Given the description of an element on the screen output the (x, y) to click on. 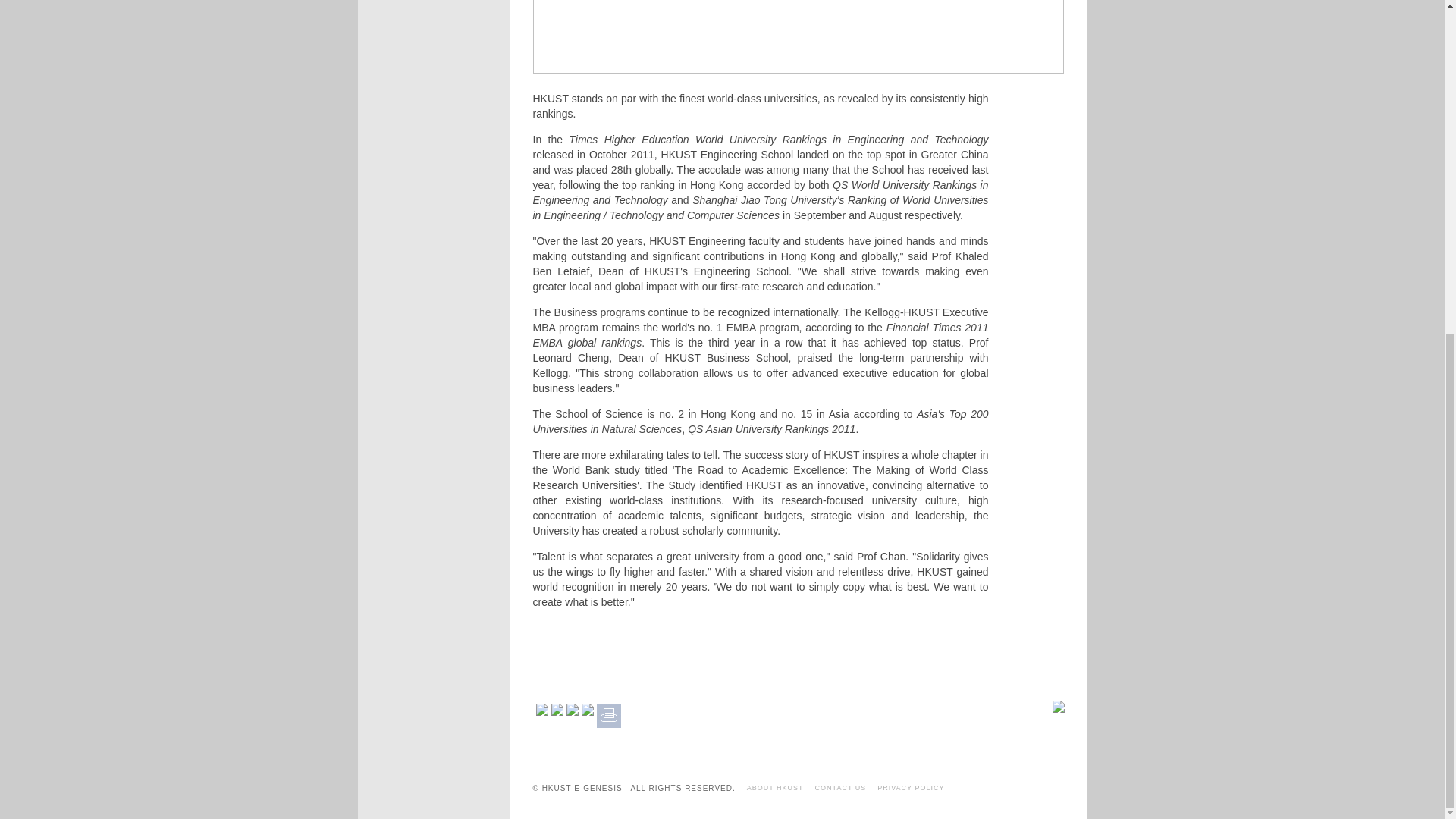
ABOUT HKUST (774, 787)
PRIVACY POLICY (910, 787)
CONTACT US (840, 787)
